Given the description of an element on the screen output the (x, y) to click on. 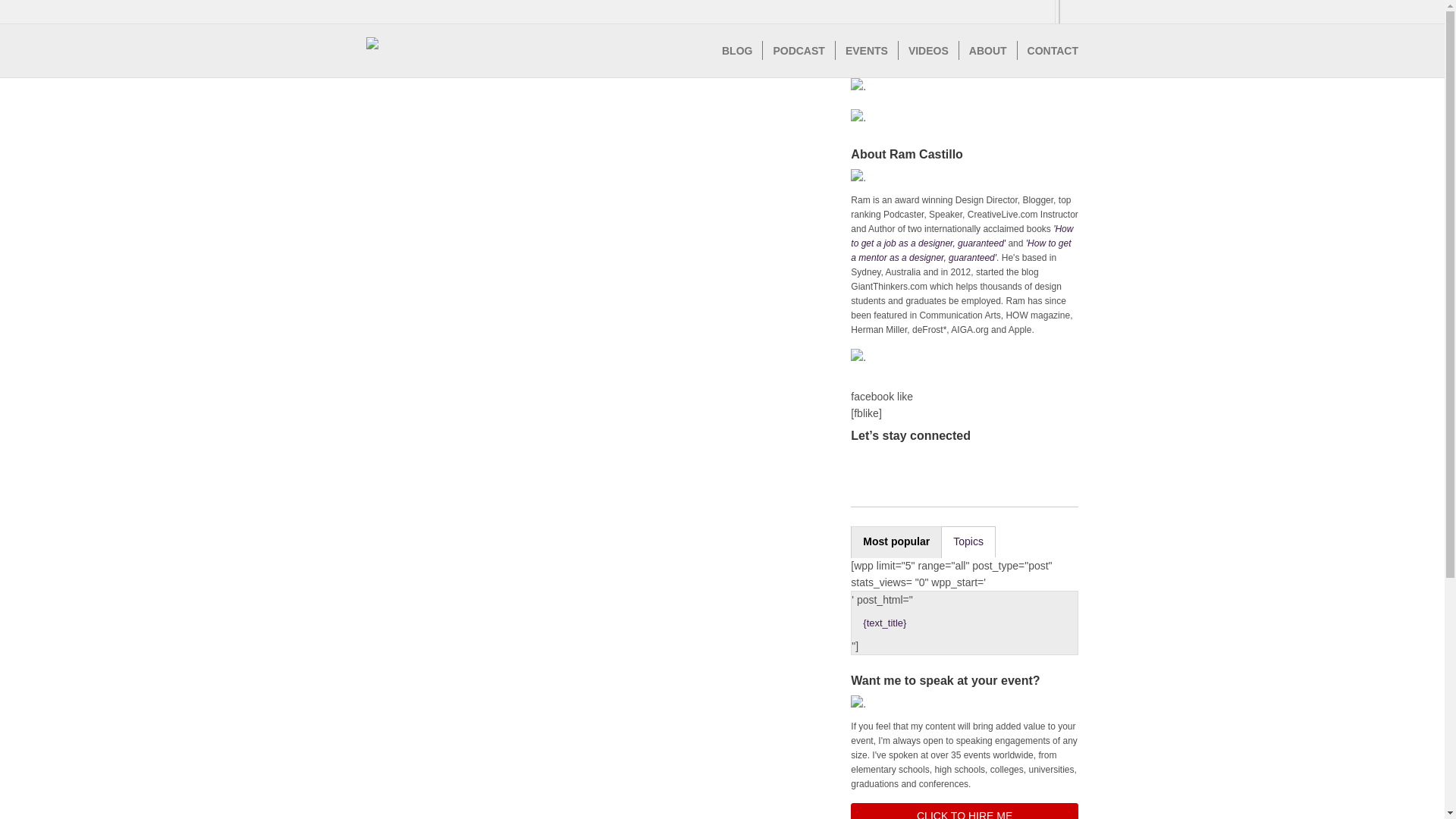
Most popular (895, 541)
CLICK TO HIRE ME (964, 811)
BLOG (736, 49)
PODCAST (797, 49)
Topics (968, 541)
EVENTS (866, 49)
VIDEOS (928, 49)
'How to get a job as a designer, guaranteed' (961, 235)
ABOUT (987, 49)
CONTACT (1047, 49)
'How to get a mentor as a designer, guaranteed' (960, 250)
